Given the description of an element on the screen output the (x, y) to click on. 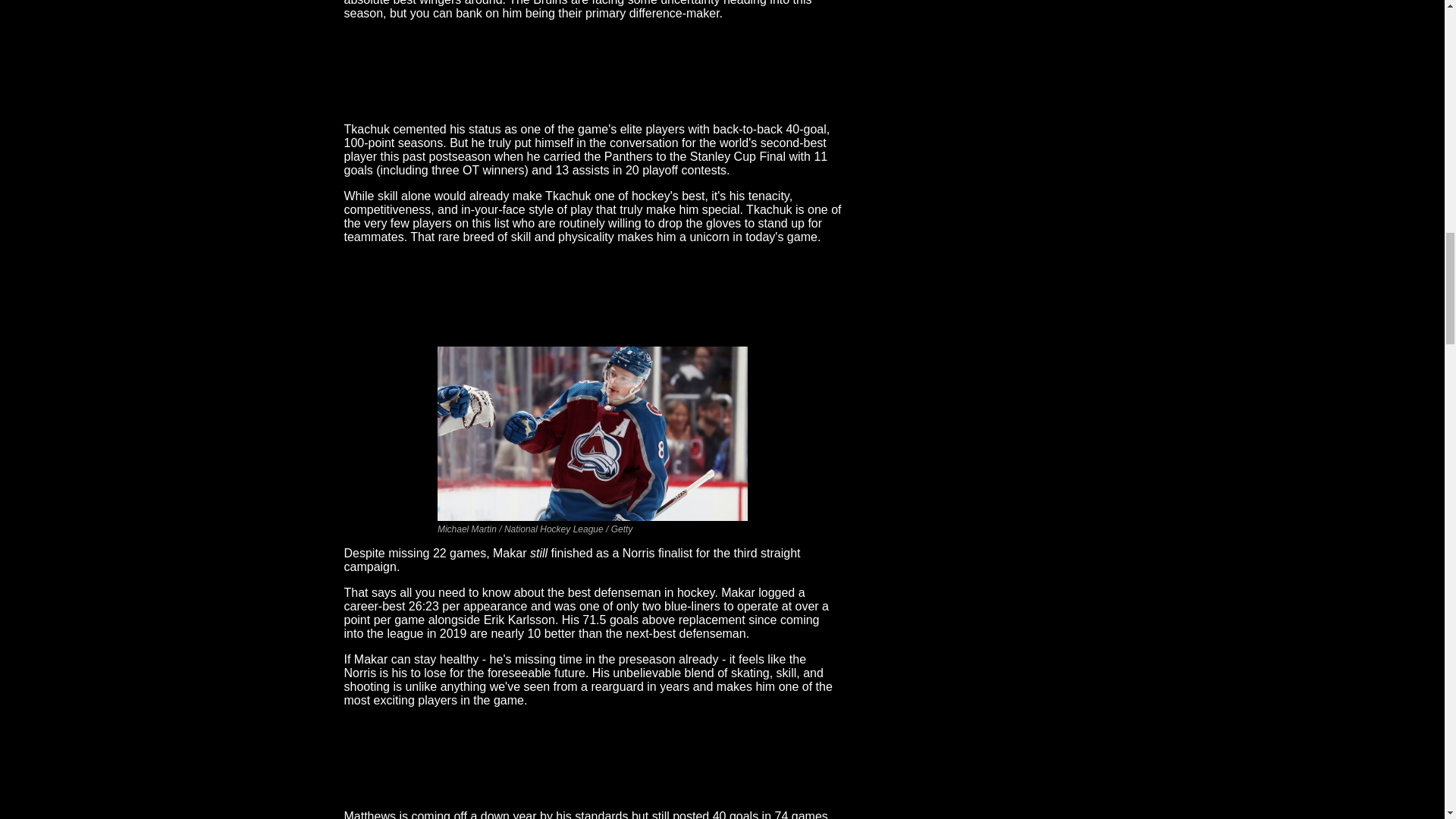
4. Matthews (592, 756)
5. Makar (592, 293)
6. M. Tkachuk (592, 69)
